Given the description of an element on the screen output the (x, y) to click on. 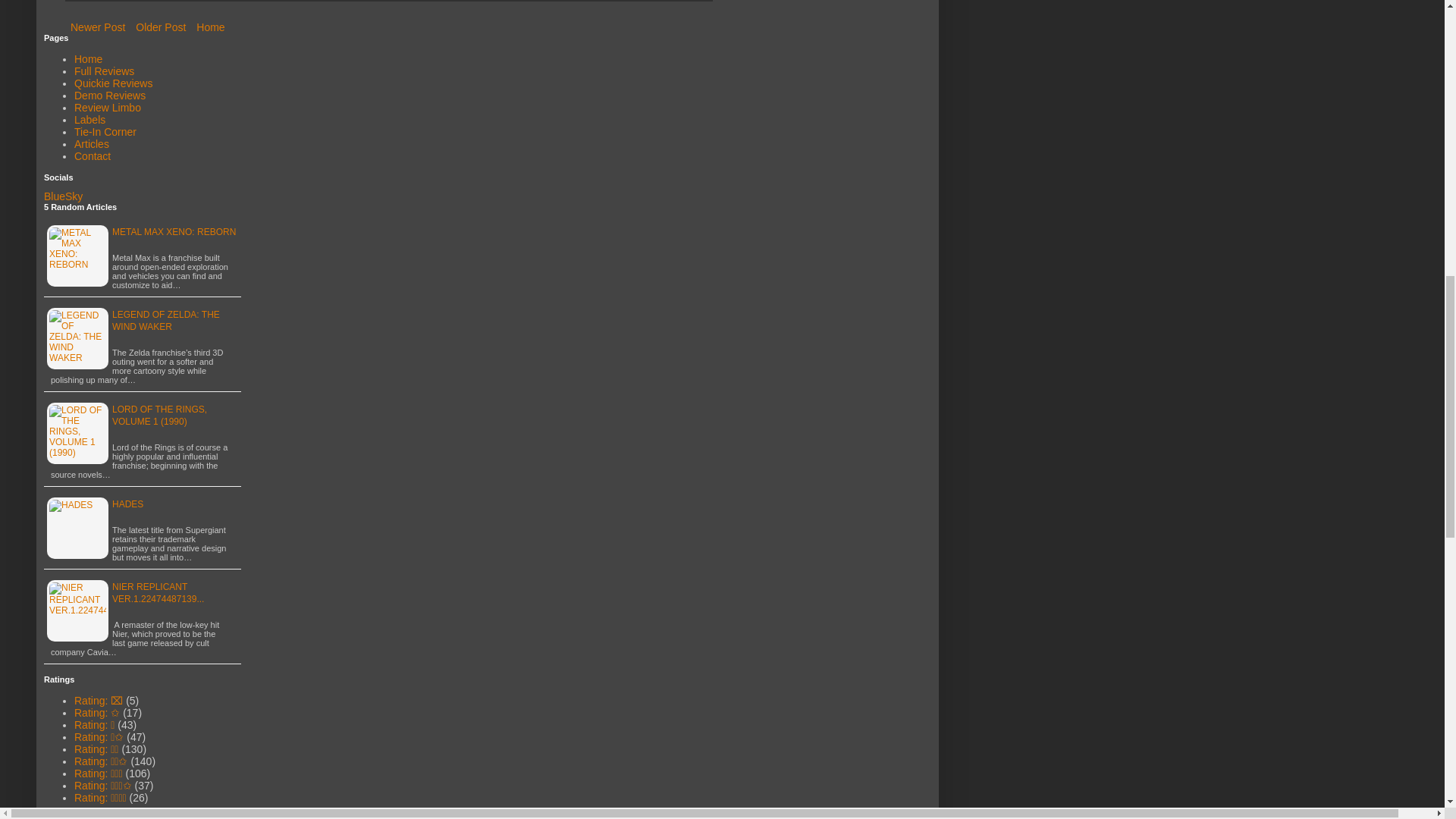
Review Limbo (107, 107)
Home (210, 26)
Articles (91, 143)
NIER REPLICANT VER.1.22474487139... (157, 592)
METAL MAX XENO: REBORN (173, 231)
Demo Reviews (109, 95)
Older Post (160, 26)
LEGEND OF ZELDA: THE WIND WAKER (165, 320)
Newer Post (97, 26)
Contact (92, 155)
BlueSky (62, 196)
Full Reviews (103, 70)
Quickie Reviews (113, 82)
Older Post (160, 26)
Tie-In Corner (105, 132)
